Given the description of an element on the screen output the (x, y) to click on. 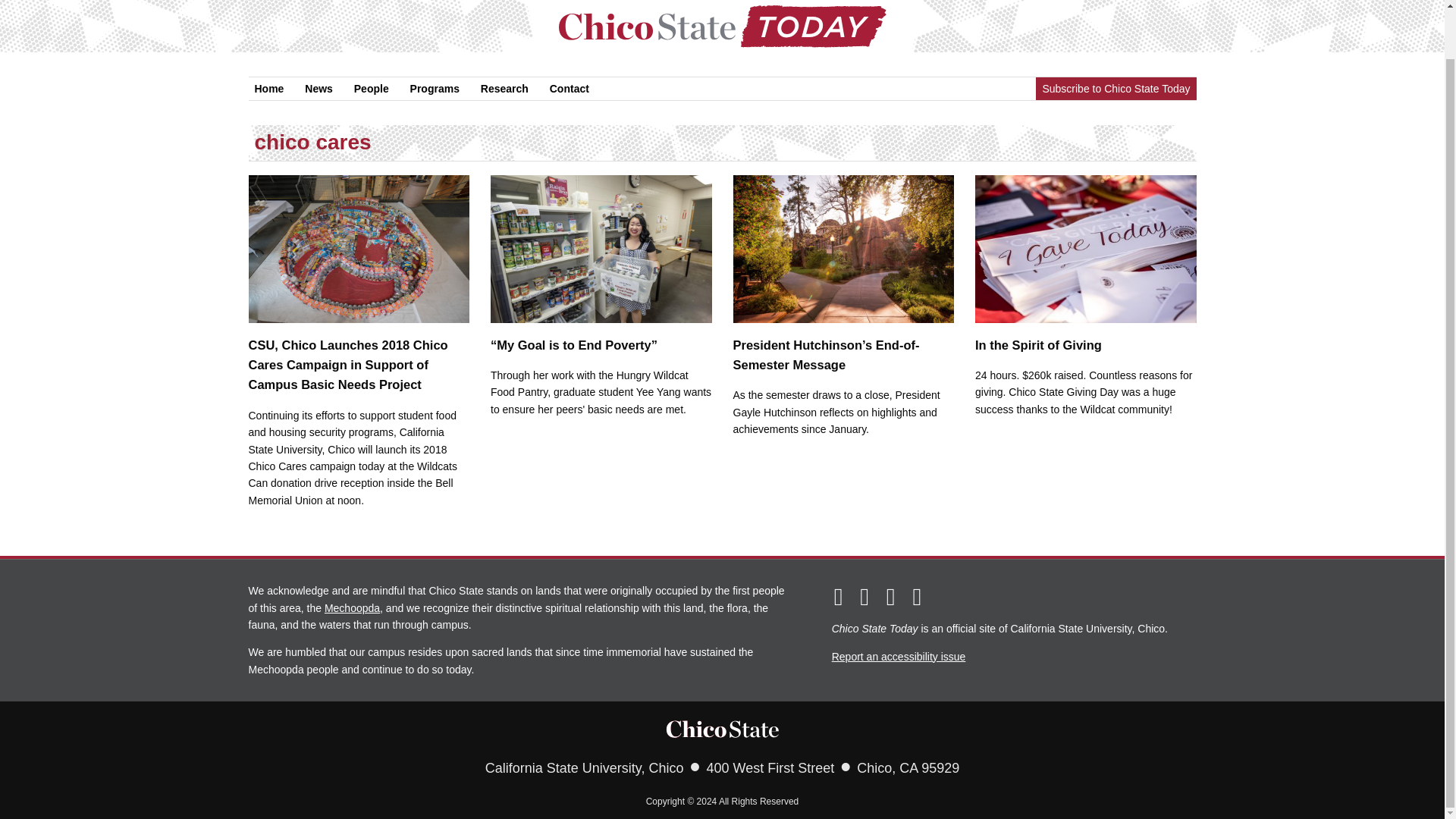
In the Spirit of Giving (1085, 263)
Subscribe to Chico State Today (1115, 87)
Report an accessibility issue (898, 655)
News (318, 87)
Contact (569, 87)
Chico State (722, 728)
People (370, 87)
Home (268, 87)
Programs (434, 87)
Research (504, 87)
Mechoopda (352, 607)
